Given the description of an element on the screen output the (x, y) to click on. 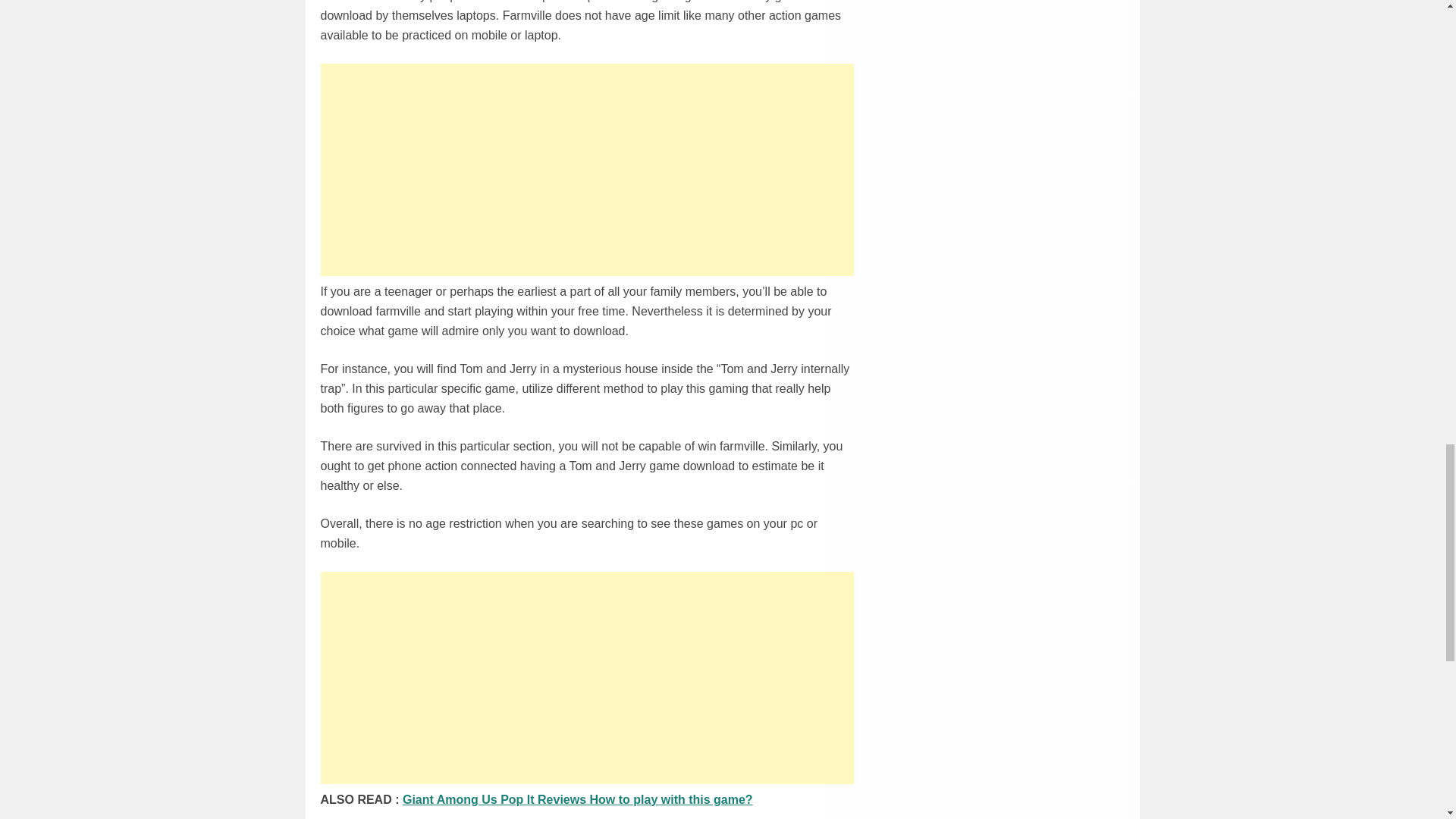
Giant Among Us Pop It Reviews How to play with this game? (577, 799)
Advertisement (586, 169)
Advertisement (586, 677)
